Given the description of an element on the screen output the (x, y) to click on. 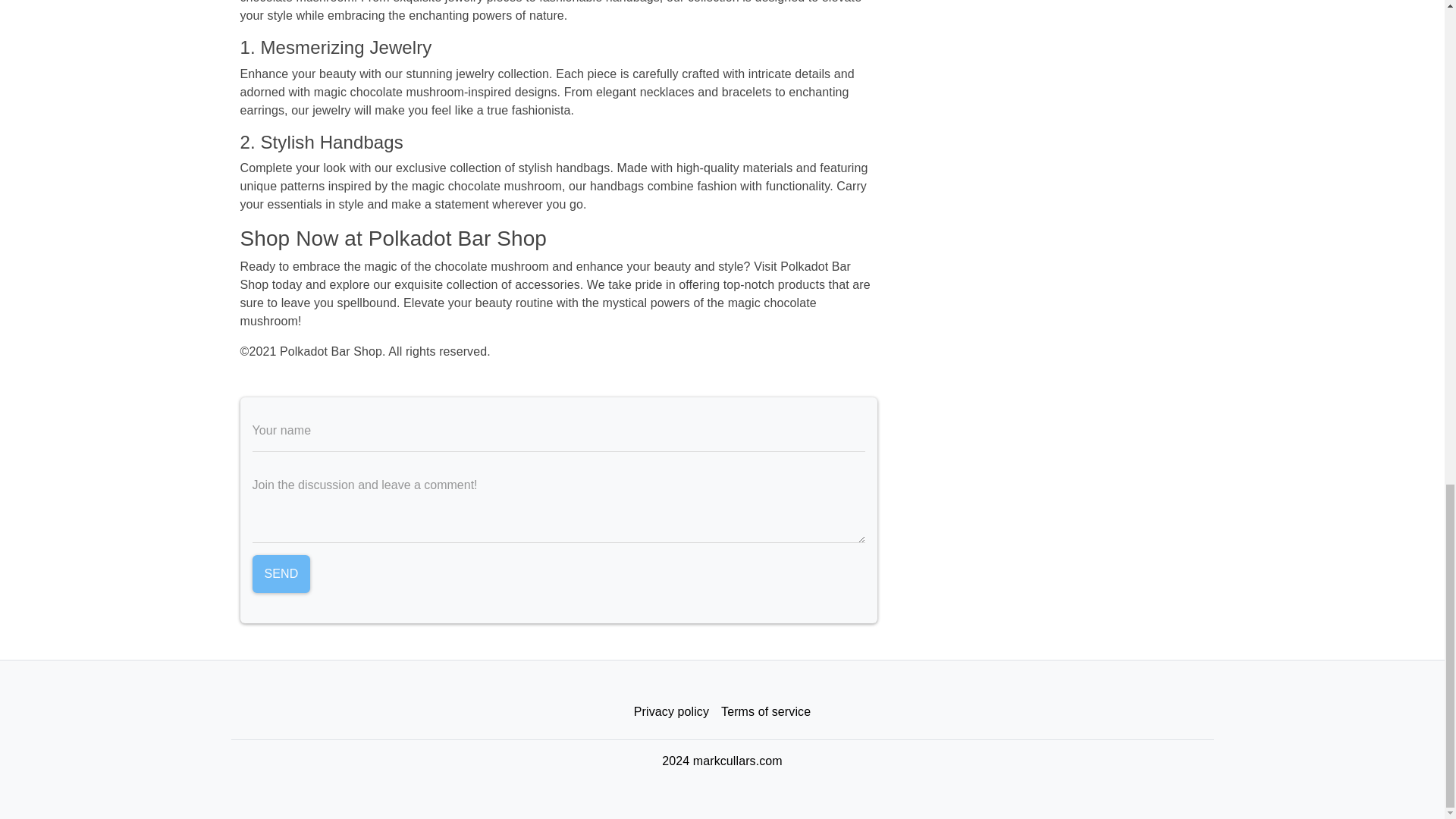
Send (280, 573)
Terms of service (765, 711)
Send (280, 573)
Privacy policy (670, 711)
